Given the description of an element on the screen output the (x, y) to click on. 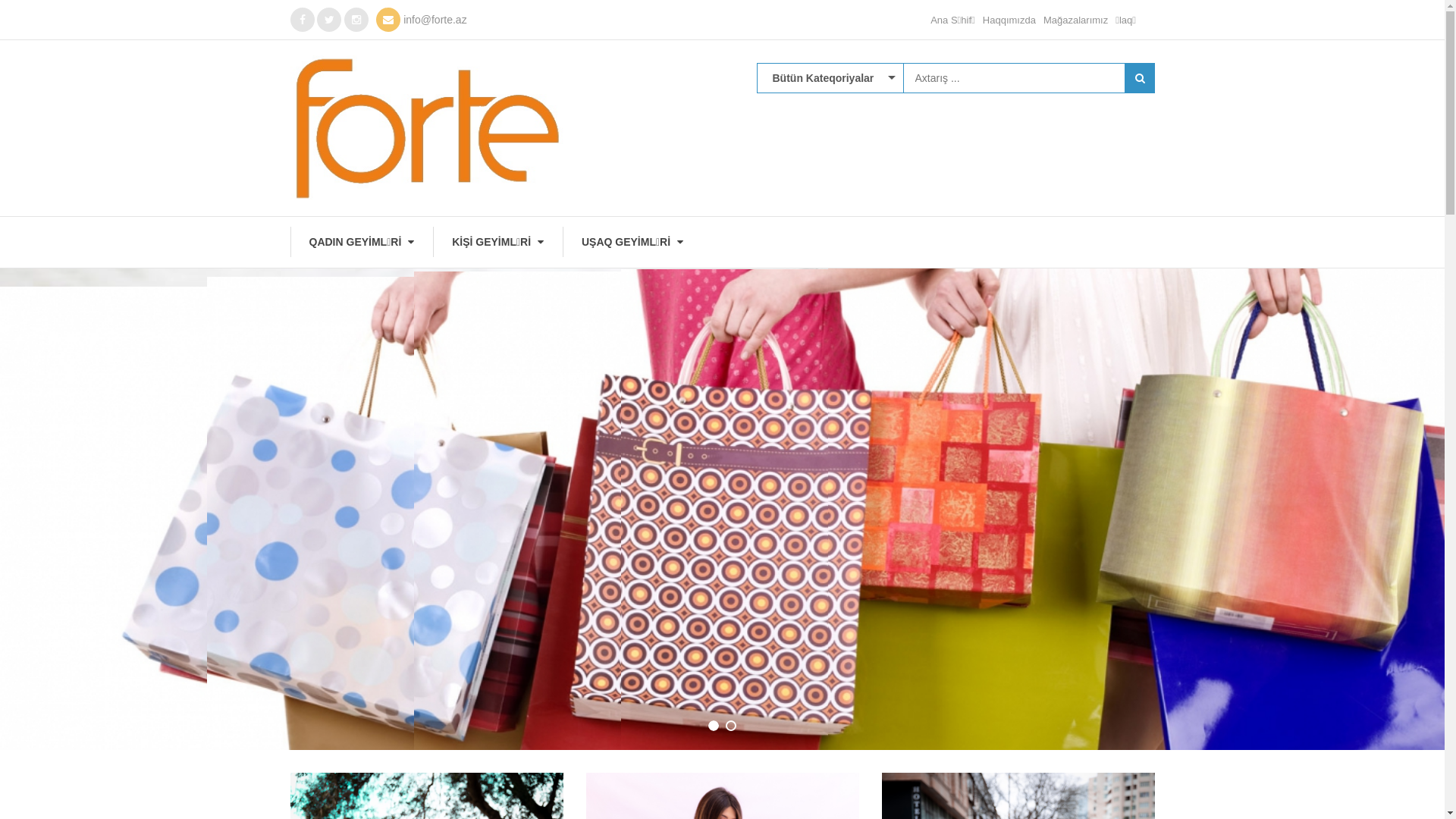
96 Element type: text (832, 599)
Facebook Element type: hover (301, 19)
53 Element type: text (832, 303)
54 Element type: text (832, 326)
23 Element type: text (832, 394)
6 Element type: text (832, 781)
22 Element type: text (832, 349)
57 Element type: text (832, 576)
29 Element type: text (832, 713)
16 Element type: text (832, 440)
52 Element type: text (832, 280)
66 Element type: text (832, 735)
55 Element type: text (832, 371)
twitter Element type: hover (328, 19)
1 Element type: text (832, 622)
58 Element type: text (832, 531)
42 Element type: text (832, 758)
32 Element type: text (832, 508)
43 Element type: text (832, 667)
30 Element type: text (832, 417)
56 Element type: text (832, 212)
18 Element type: text (832, 462)
13 Element type: text (832, 690)
14 Element type: text (832, 144)
33 Element type: text (832, 553)
37 Element type: text (832, 644)
41 Element type: text (832, 804)
84 Element type: text (832, 258)
67 Element type: text (832, 189)
Instagram Element type: hover (356, 19)
17 Element type: text (832, 167)
15 Element type: text (832, 235)
31 Element type: text (832, 485)
2 Element type: text (832, 121)
